Given the description of an element on the screen output the (x, y) to click on. 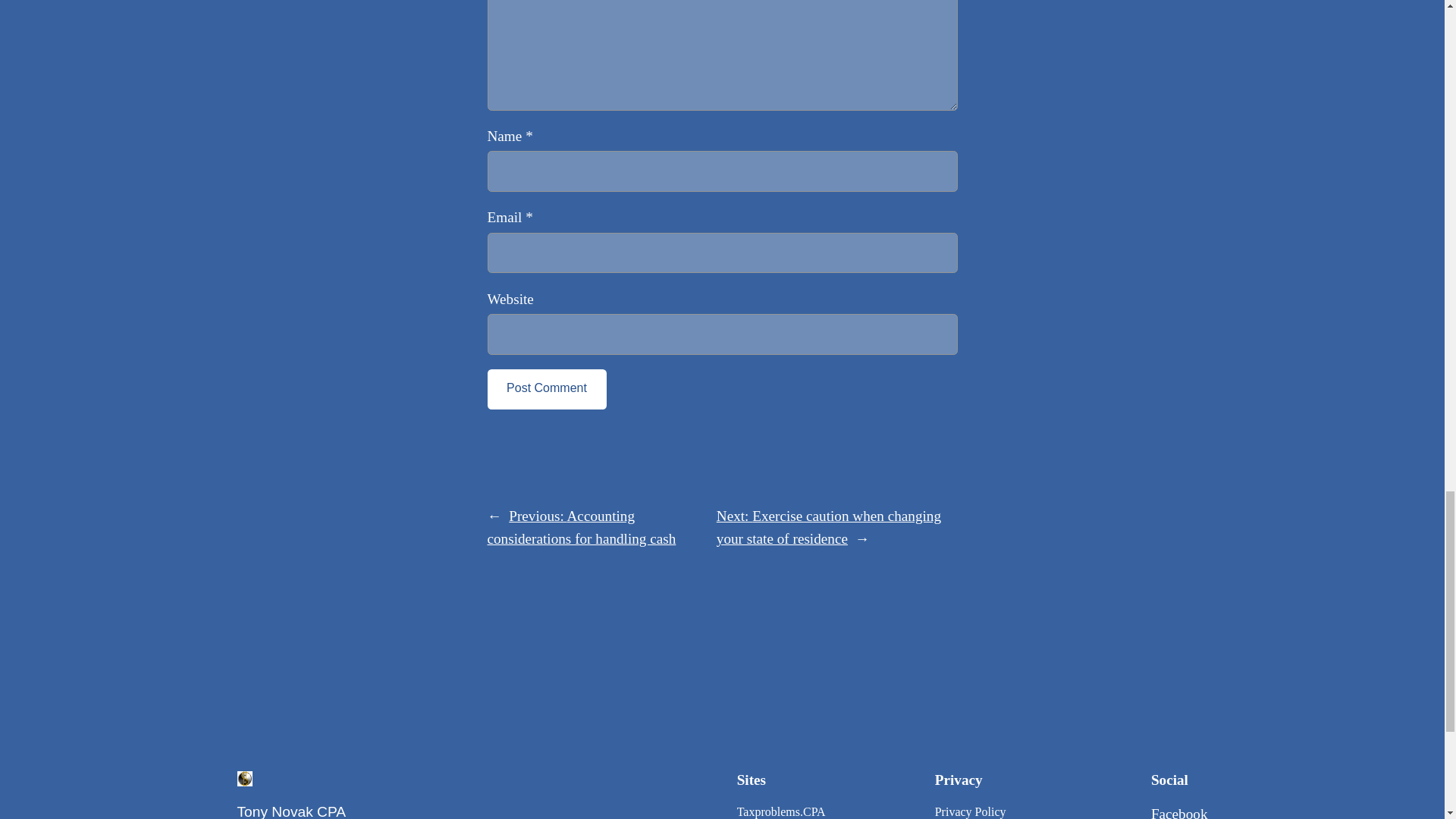
Next: Exercise caution when changing your state of residence (828, 527)
Privacy Policy (970, 811)
Facebook (1179, 812)
Post Comment (545, 389)
Post Comment (545, 389)
Tony Novak CPA (290, 811)
Taxproblems.CPA (780, 811)
Previous: Accounting considerations for handling cash (580, 527)
